Given the description of an element on the screen output the (x, y) to click on. 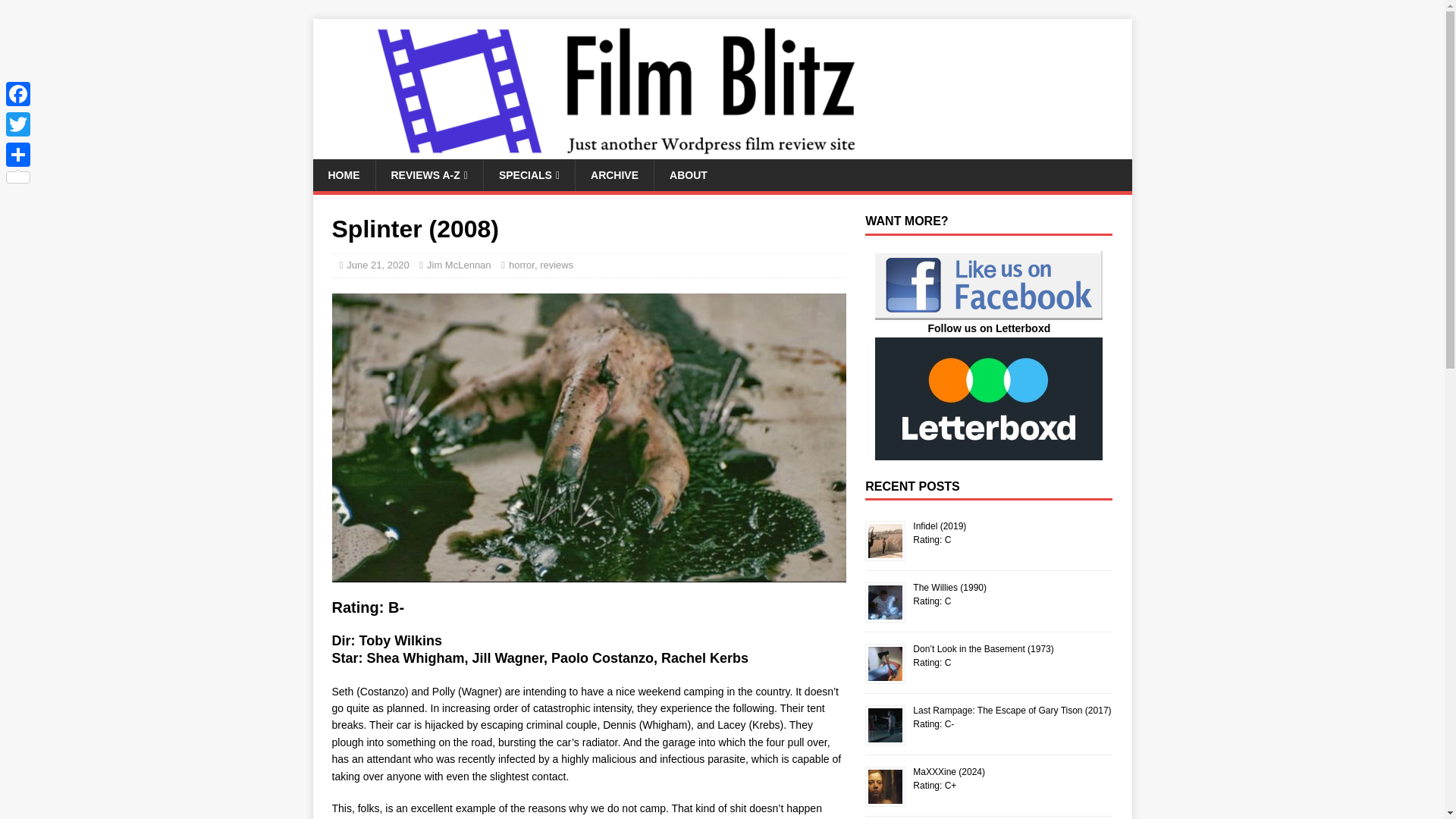
reviews (556, 265)
horror (521, 265)
Jim McLennan (459, 265)
ARCHIVE (614, 174)
SPECIALS (529, 174)
Twitter (17, 123)
Facebook (17, 93)
ABOUT (687, 174)
REVIEWS A-Z (427, 174)
June 21, 2020 (377, 265)
